Given the description of an element on the screen output the (x, y) to click on. 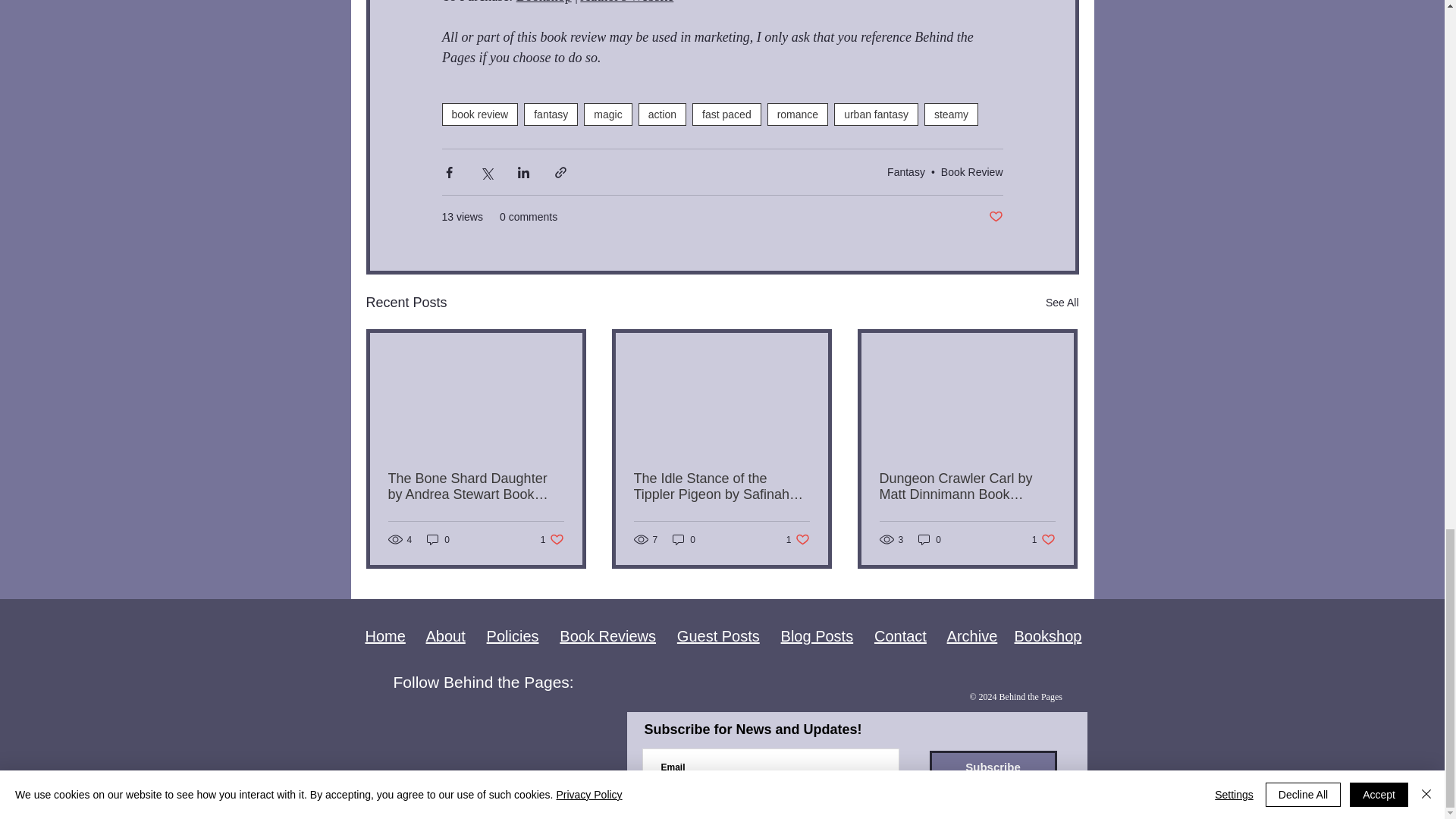
magic (607, 114)
fantasy (551, 114)
Bookshop (542, 2)
urban fantasy (876, 114)
Author's Website (625, 2)
Embedded Content (488, 788)
fast paced (727, 114)
action (662, 114)
book review (479, 114)
romance (797, 114)
